Given the description of an element on the screen output the (x, y) to click on. 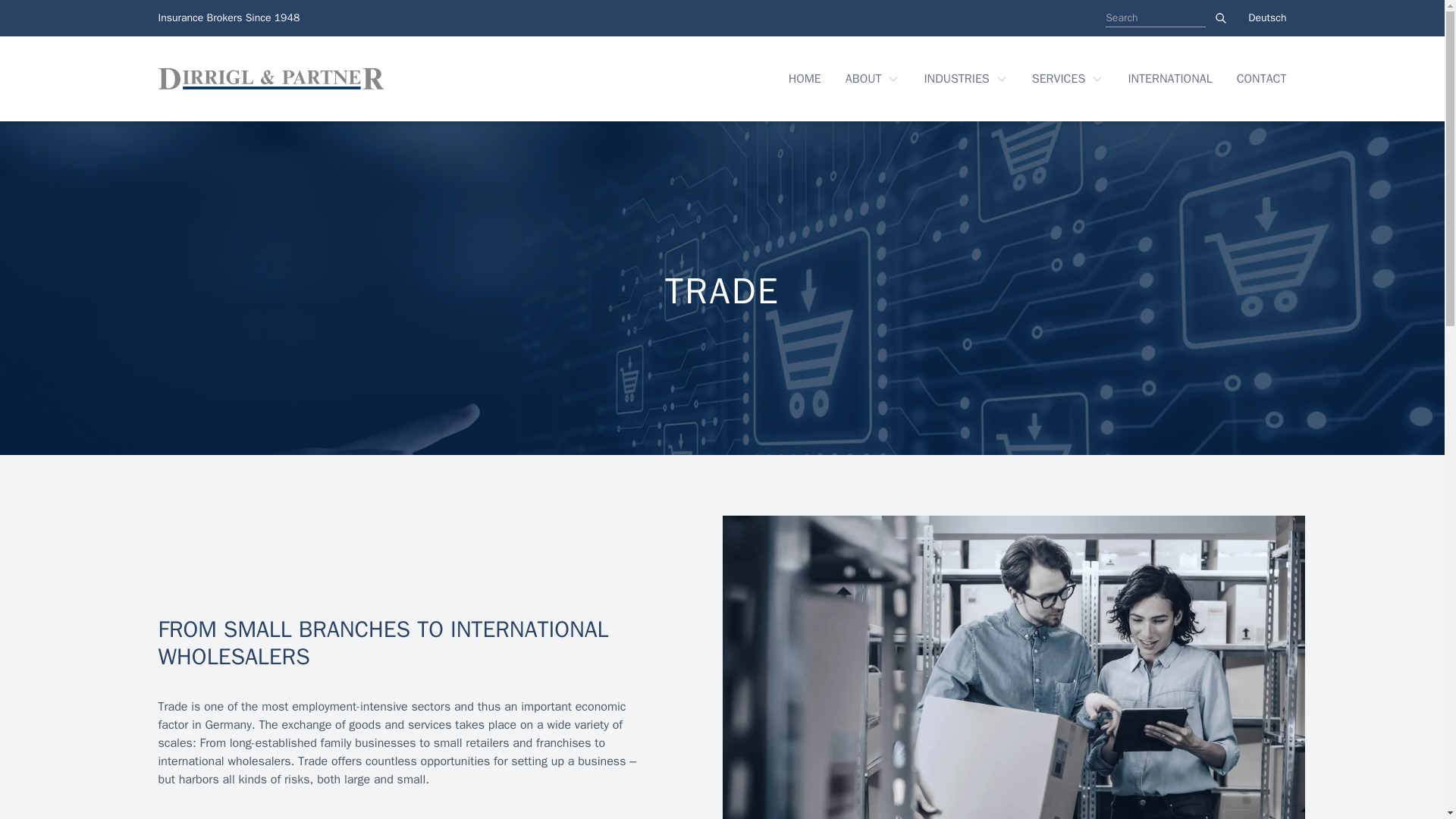
CONTACT (1261, 78)
HOME (805, 78)
INTERNATIONAL (1168, 78)
SERVICES (1067, 78)
Deutsch (1266, 17)
INDUSTRIES (965, 78)
ABOUT (872, 78)
